Given the description of an element on the screen output the (x, y) to click on. 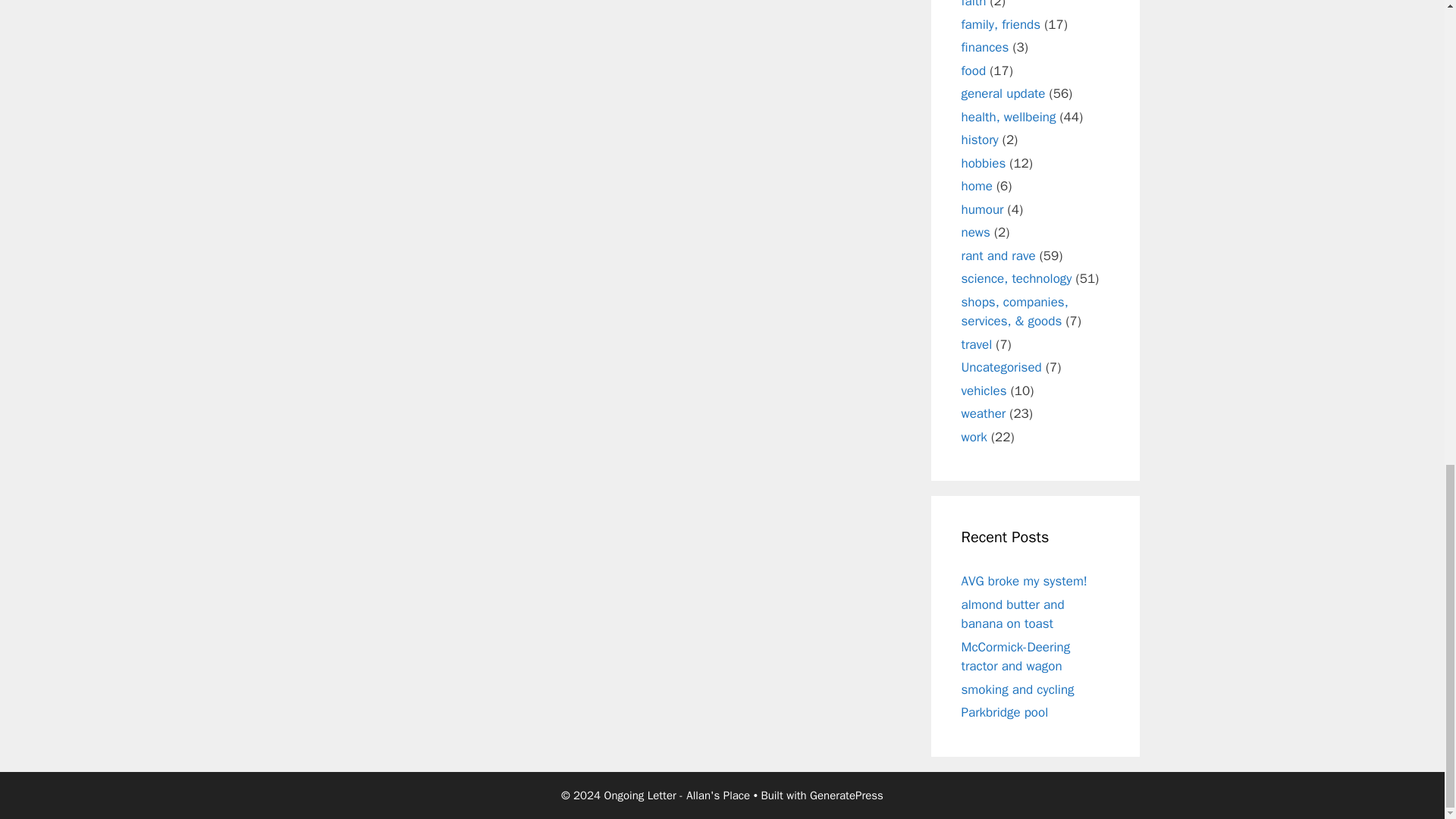
food (973, 69)
hobbies (983, 162)
faith (973, 4)
Scroll back to top (1406, 454)
general update (1002, 93)
finances (984, 47)
health, wellbeing (1008, 116)
history (979, 139)
home (976, 186)
family, friends (1000, 24)
